Given the description of an element on the screen output the (x, y) to click on. 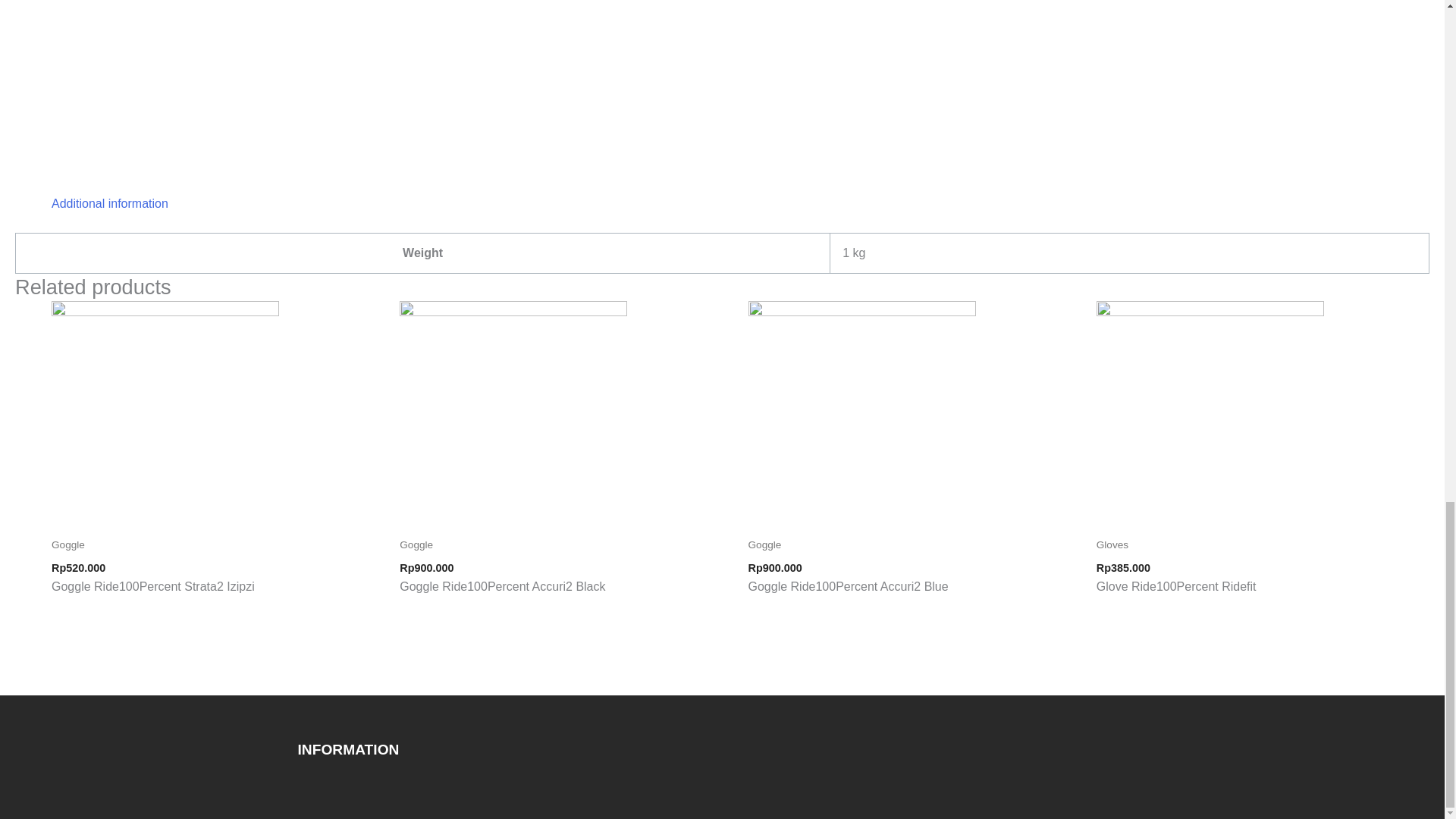
Goggle Ride100Percent Accuri2 Black (565, 596)
Goggle Ride100Percent Strata2 Izipzi (217, 596)
Additional information (109, 203)
Goggle Ride100Percent Accuri2 Blue (914, 596)
Glove Ride100Percent Ridefit (1262, 596)
